Given the description of an element on the screen output the (x, y) to click on. 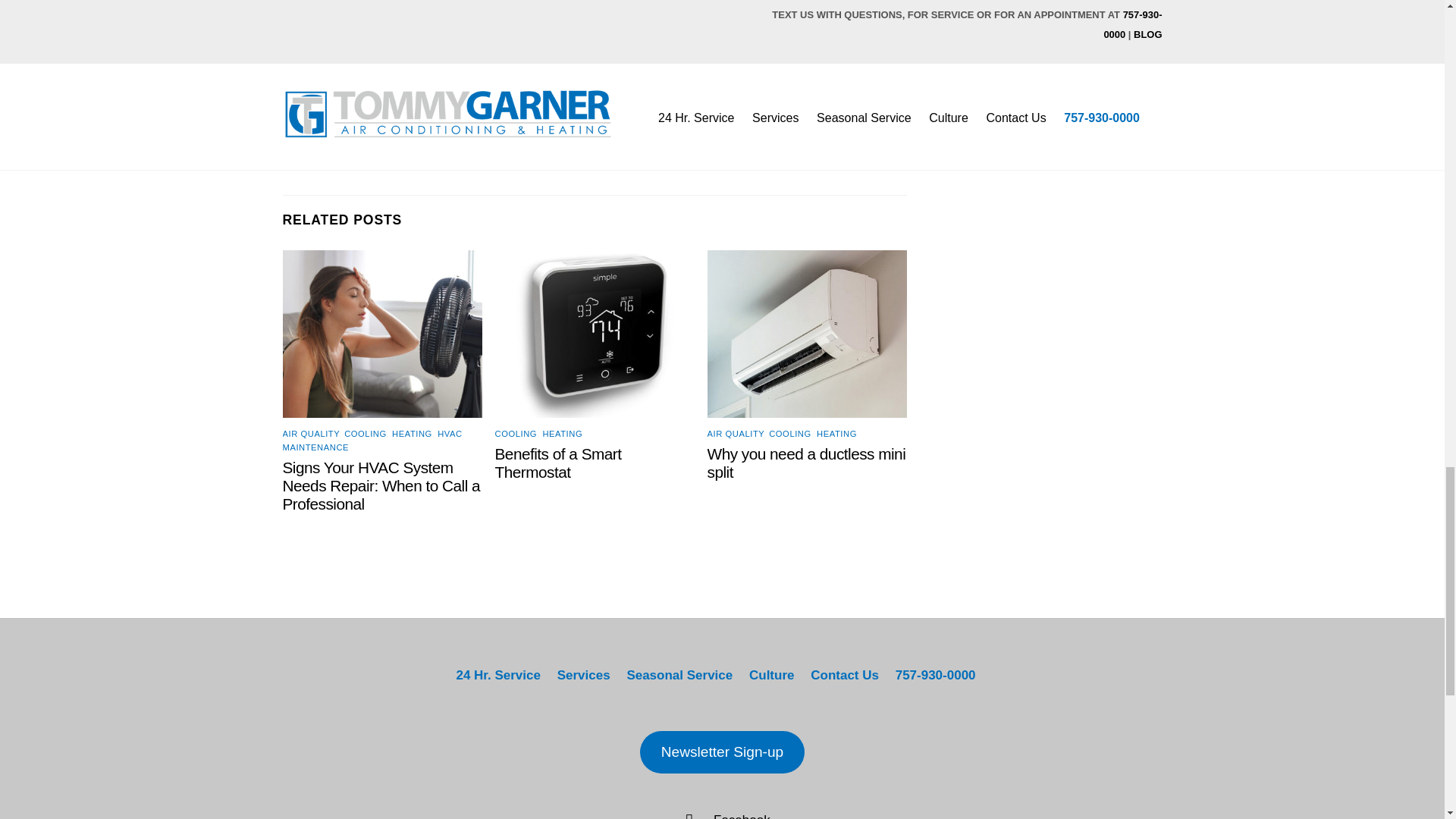
AIR QUALITY (309, 433)
AIR QUALITY (734, 433)
COOLING (365, 433)
Why you need a ductless mini split (806, 462)
Benefits of a Smart Thermostat (558, 462)
Benefits of a Smart Thermostat (558, 462)
HVAC MAINTENANCE (371, 440)
HEATING (561, 433)
